Given the description of an element on the screen output the (x, y) to click on. 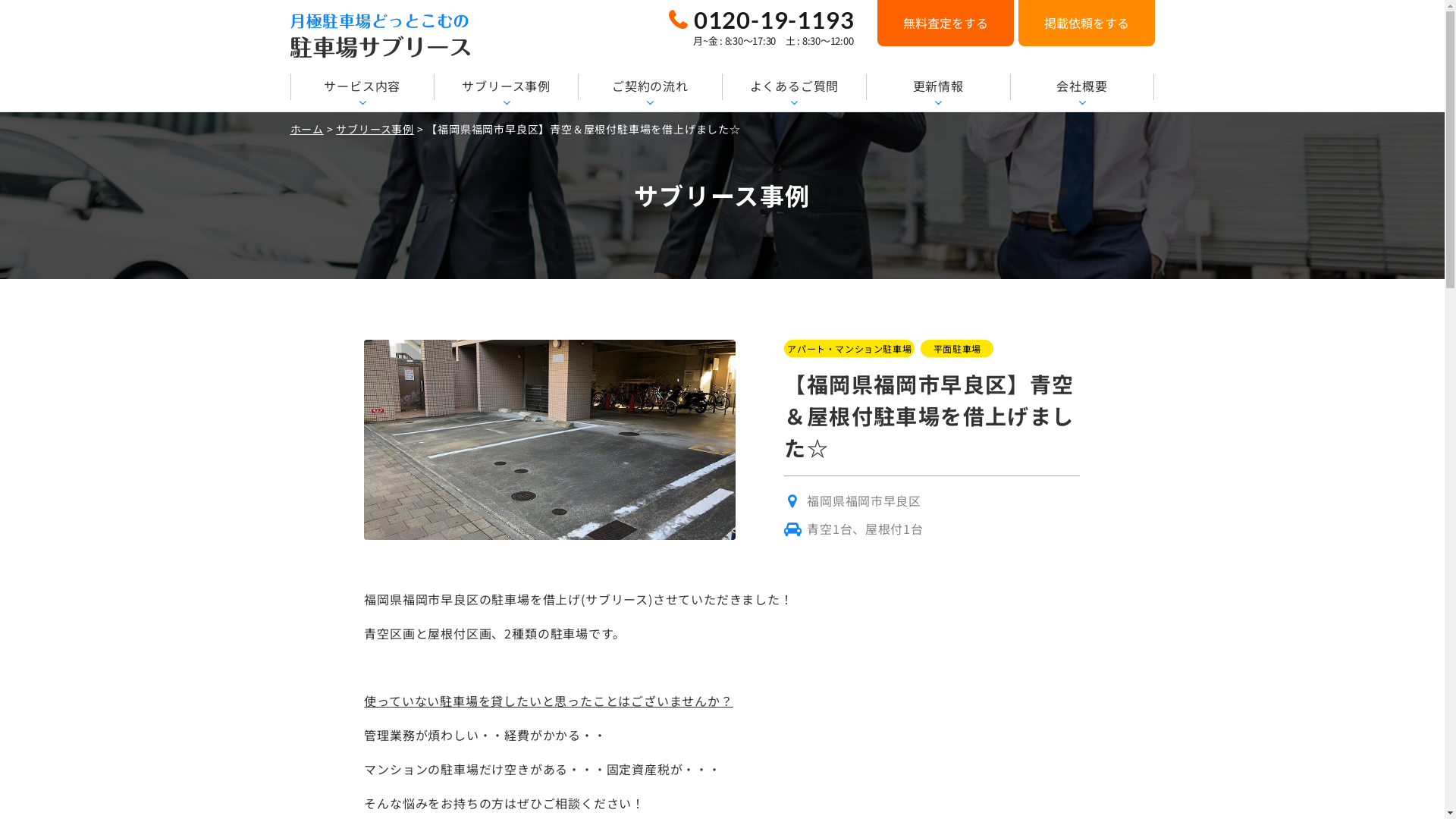
0120-19-1193 Element type: text (760, 20)
